Given the description of an element on the screen output the (x, y) to click on. 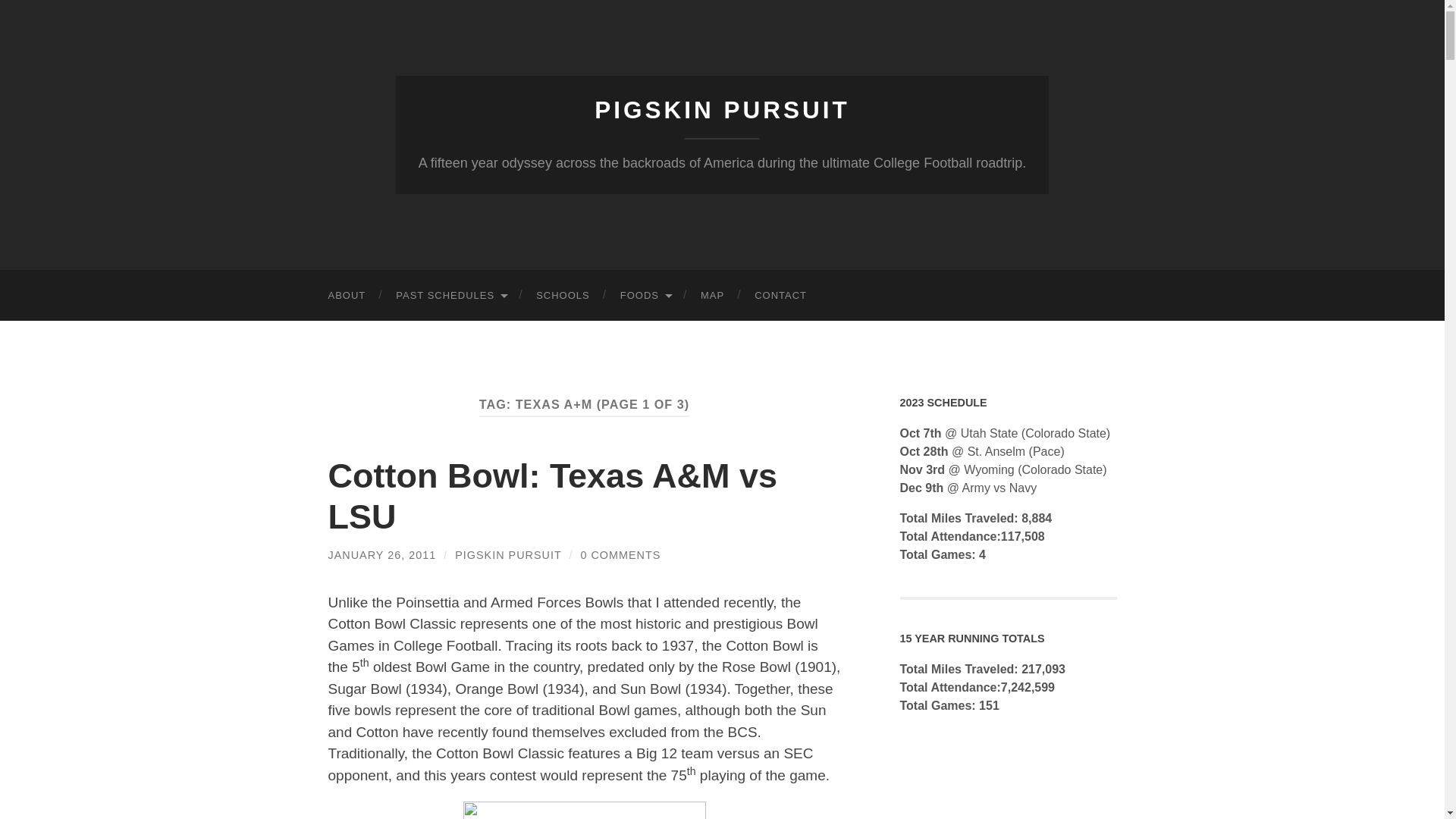
FOODS (645, 295)
ABOUT (346, 295)
CONTACT (780, 295)
SCHOOLS (563, 295)
MAP (712, 295)
Posts by Pigskin Pursuit (507, 554)
PIGSKIN PURSUIT (722, 109)
PAST SCHEDULES (450, 295)
